Given the description of an element on the screen output the (x, y) to click on. 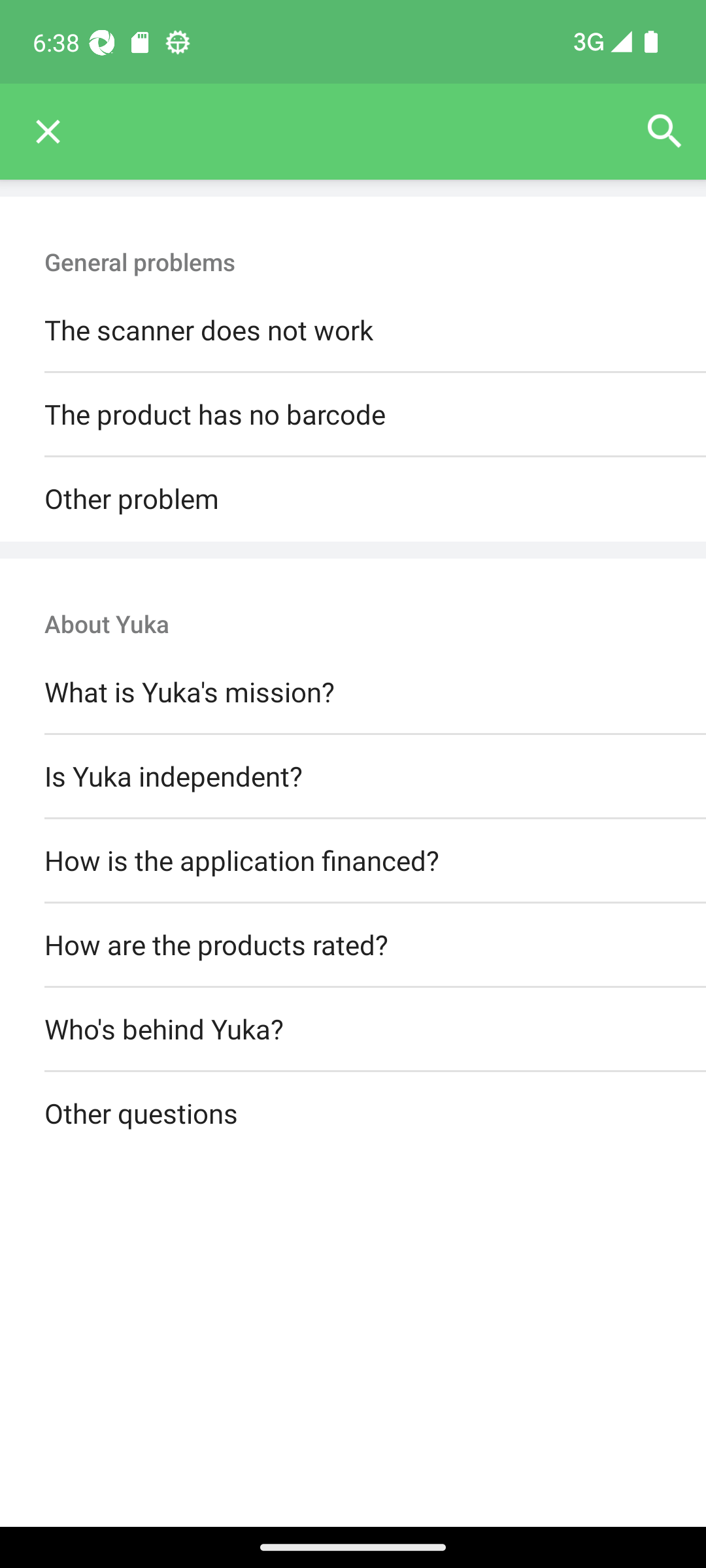
Search (664, 131)
The scanner does not work (353, 330)
The product has no barcode (353, 415)
Other problem (353, 498)
What is Yuka's mission? (353, 692)
Is Yuka independent? (353, 776)
How is the application financed? (353, 860)
How are the products rated? (353, 945)
Who's behind Yuka? (353, 1029)
Other questions (353, 1114)
